Given the description of an element on the screen output the (x, y) to click on. 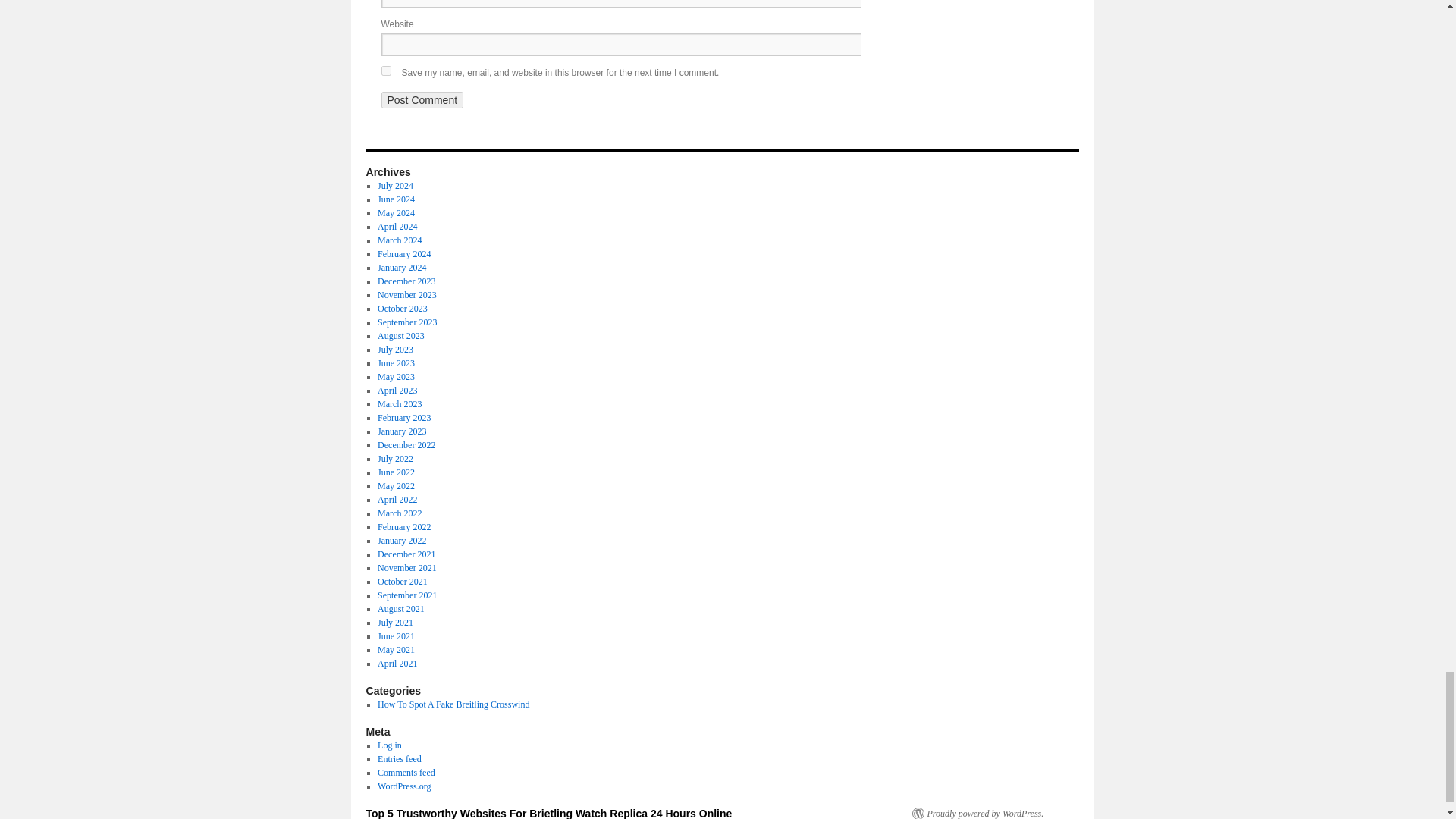
May 2024 (395, 213)
April 2024 (396, 226)
January 2024 (401, 267)
July 2024 (395, 185)
March 2024 (399, 240)
July 2023 (395, 348)
yes (385, 71)
August 2023 (401, 335)
April 2023 (396, 389)
June 2024 (395, 199)
September 2023 (406, 321)
March 2023 (399, 403)
June 2023 (395, 362)
Post Comment (421, 99)
December 2023 (406, 281)
